Given the description of an element on the screen output the (x, y) to click on. 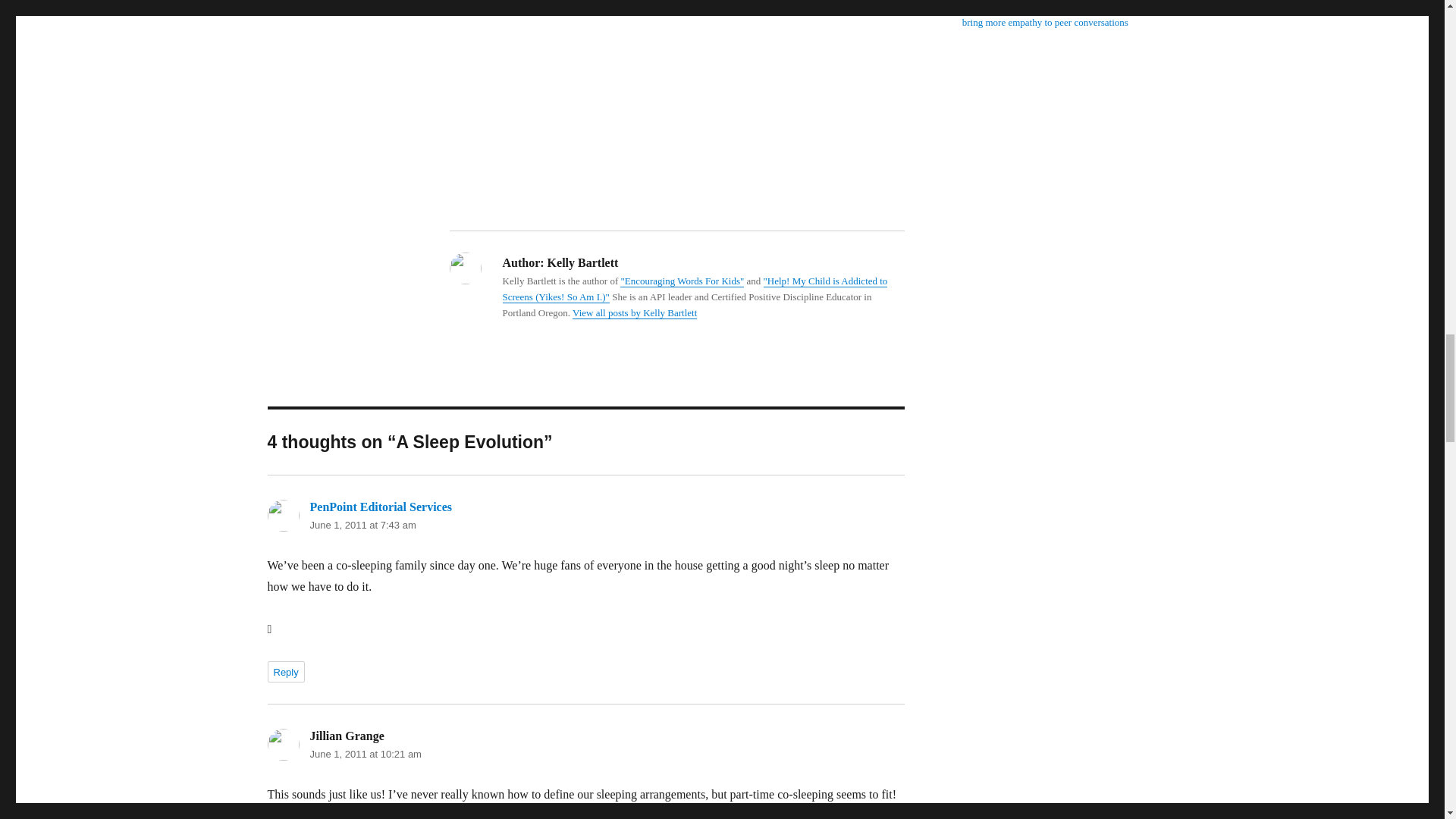
June 1, 2011 at 7:43 am (361, 524)
June 1, 2011 at 10:21 am (364, 754)
"Encouraging Words For Kids" (682, 280)
Encouraging Words For Kids (682, 280)
Encouraging Words For Kids (694, 288)
Reply (285, 671)
View all posts by Kelly Bartlett (634, 312)
PenPoint Editorial Services (379, 506)
